Given the description of an element on the screen output the (x, y) to click on. 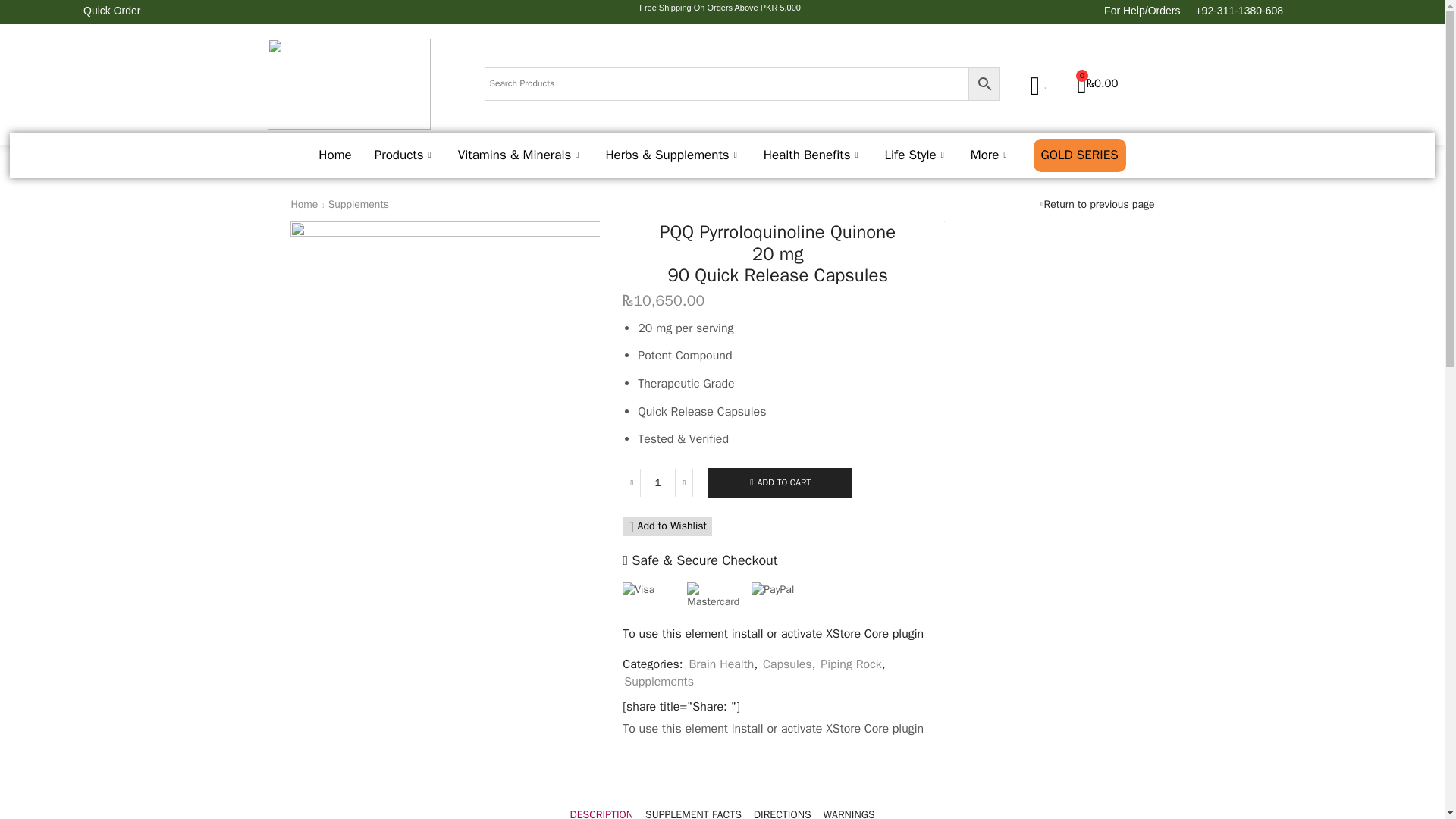
Quick Order (109, 11)
1 (657, 482)
